Given the description of an element on the screen output the (x, y) to click on. 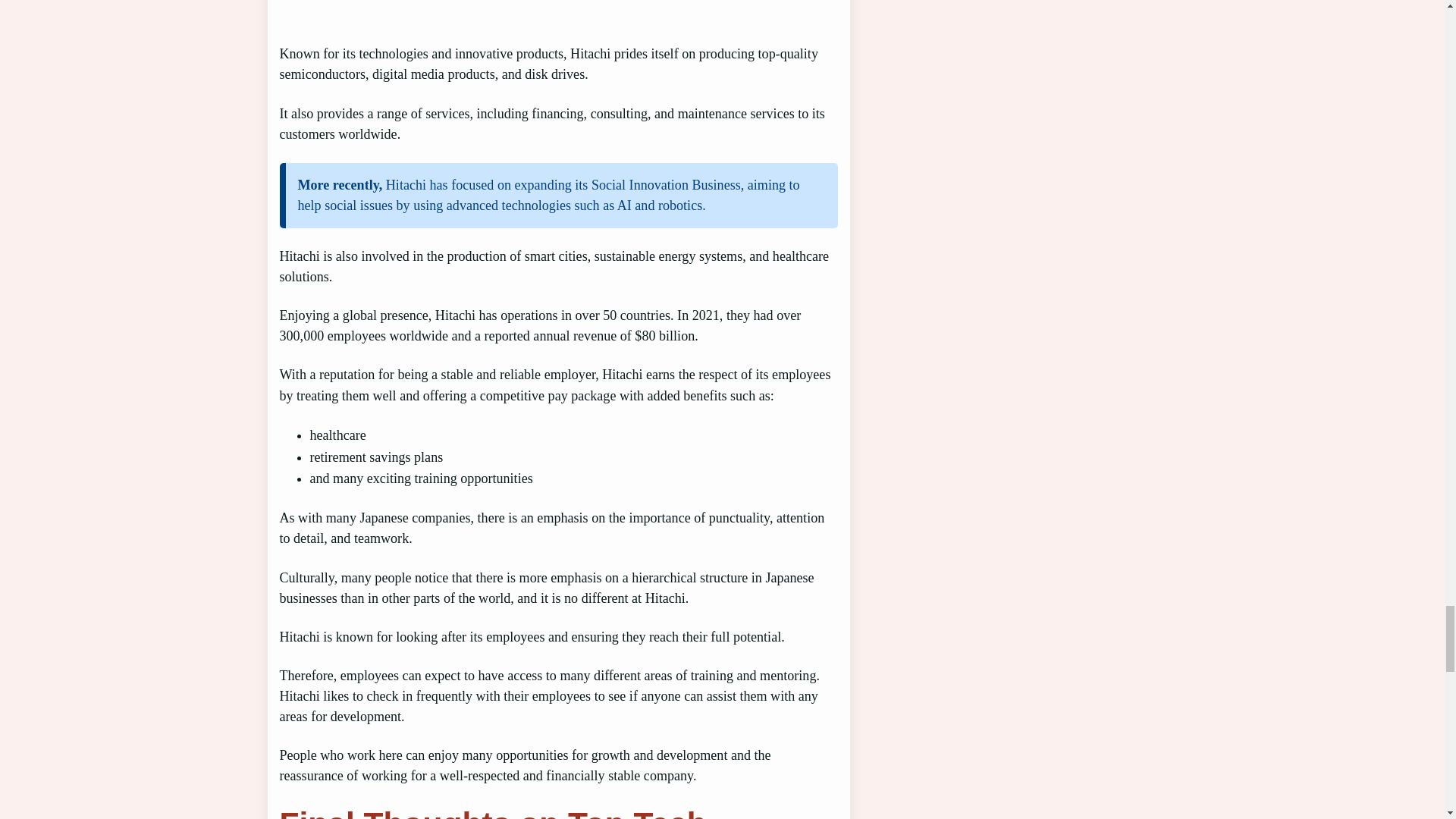
Embedded post (548, 9)
